Given the description of an element on the screen output the (x, y) to click on. 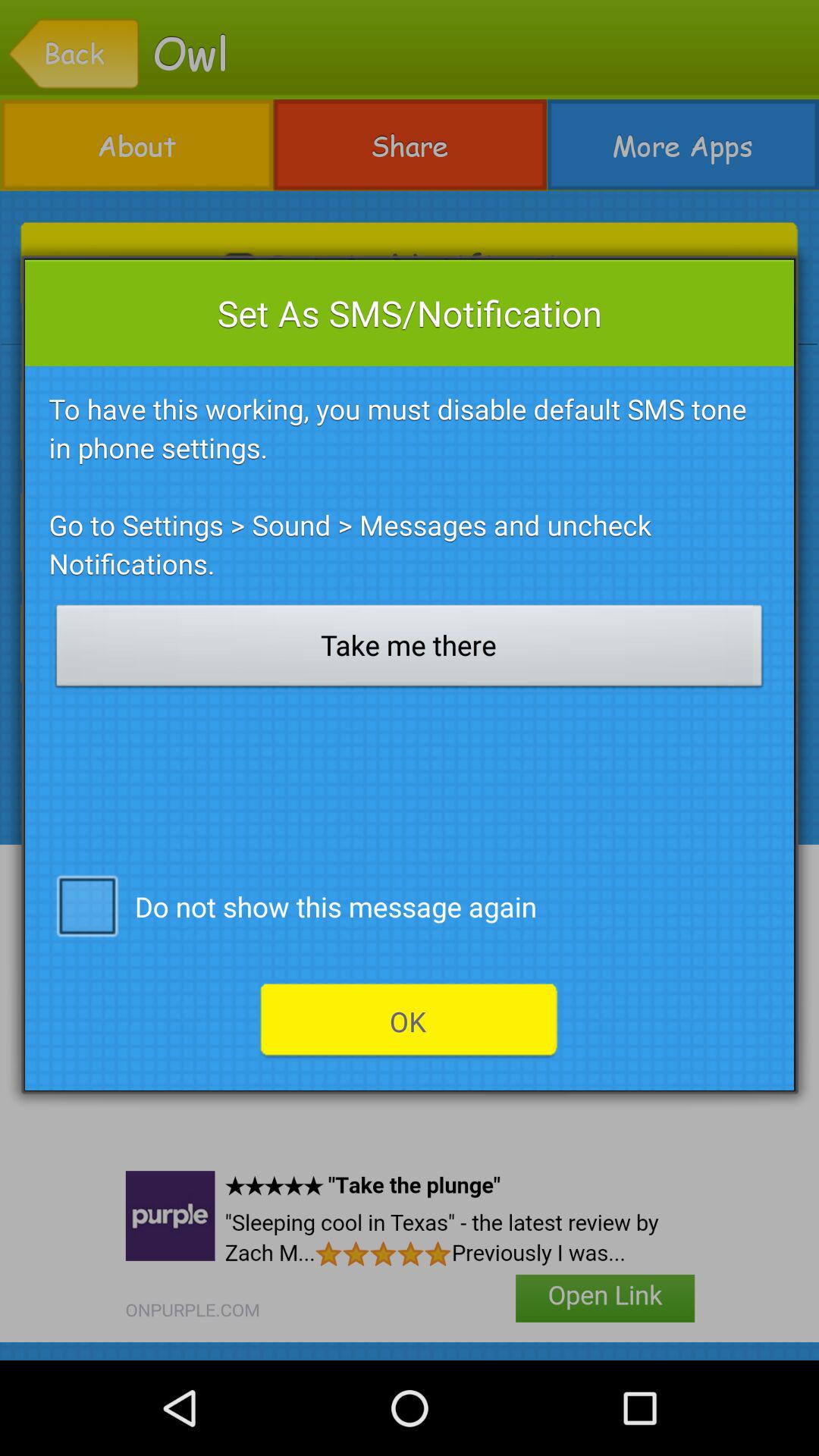
turn off icon to the left of do not show (86, 904)
